Given the description of an element on the screen output the (x, y) to click on. 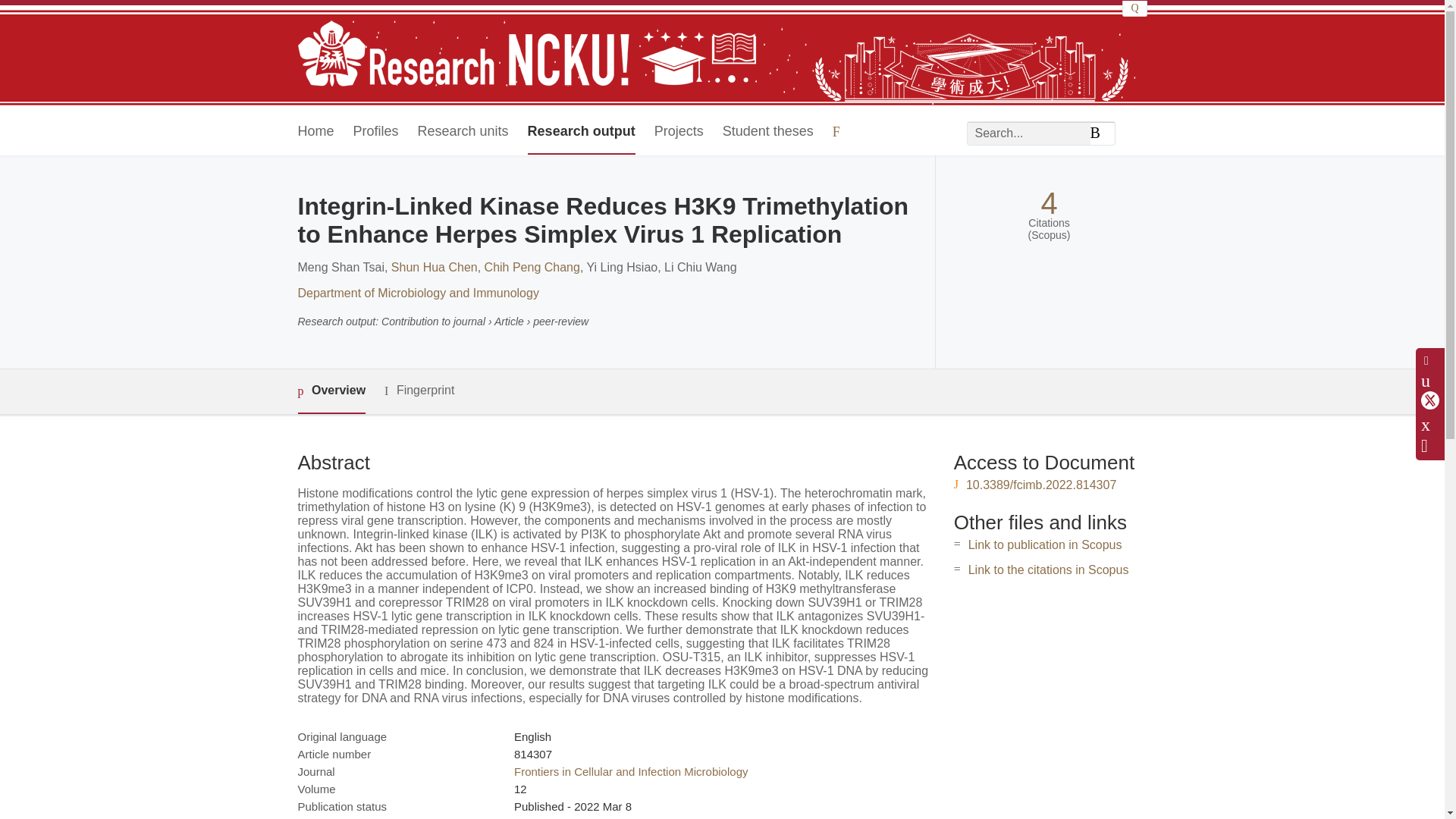
Chih Peng Chang (531, 267)
Research units (462, 131)
Frontiers in Cellular and Infection Microbiology (630, 771)
Link to the citations in Scopus (1048, 569)
Overview (331, 391)
Profiles (375, 131)
Department of Microbiology and Immunology (417, 292)
National Cheng Kung University Home (526, 54)
Research output (580, 131)
Student theses (767, 131)
Fingerprint (419, 390)
Link to publication in Scopus (1045, 544)
Projects (678, 131)
Shun Hua Chen (434, 267)
